Given the description of an element on the screen output the (x, y) to click on. 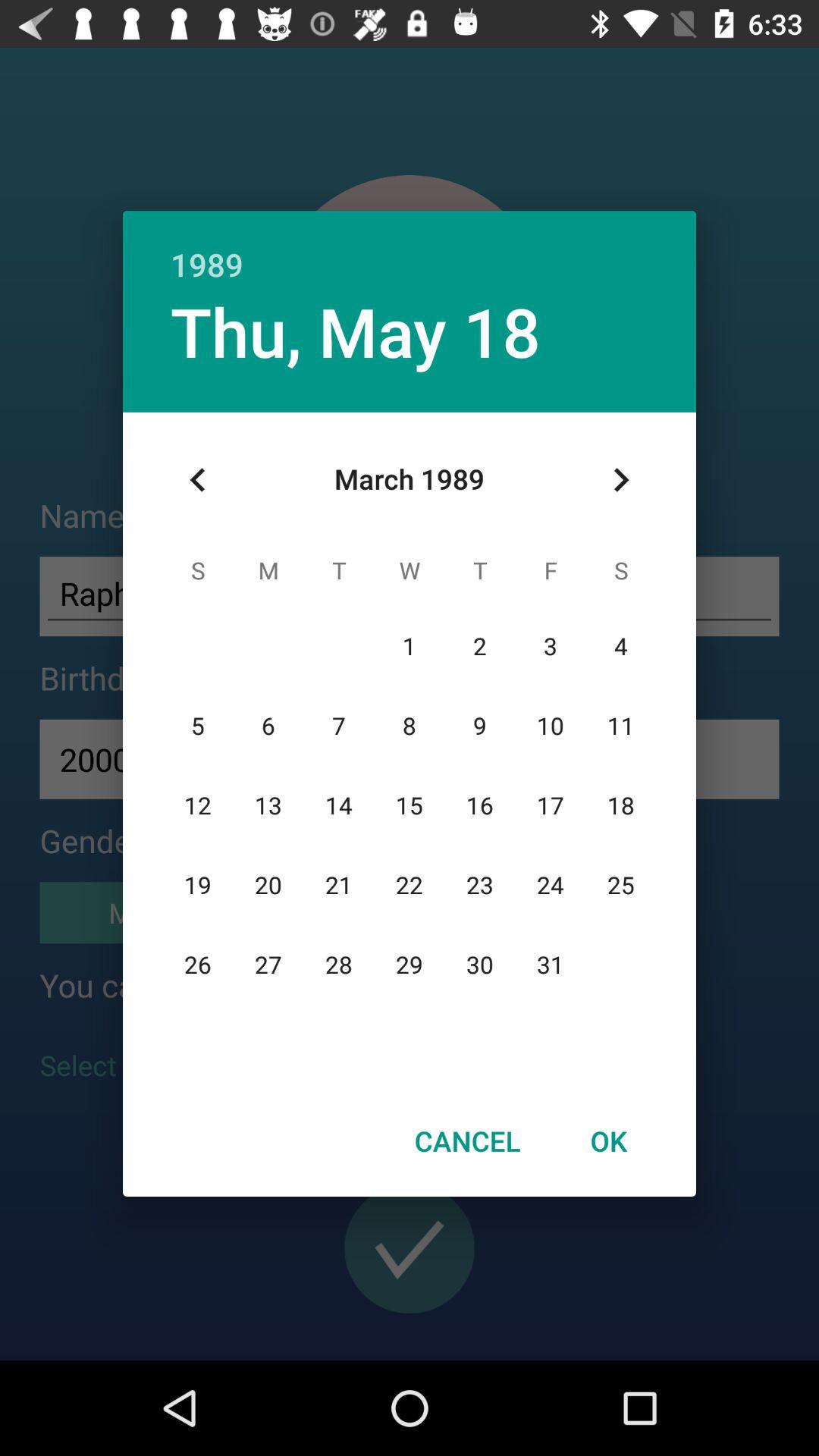
click the item above the ok button (620, 479)
